Given the description of an element on the screen output the (x, y) to click on. 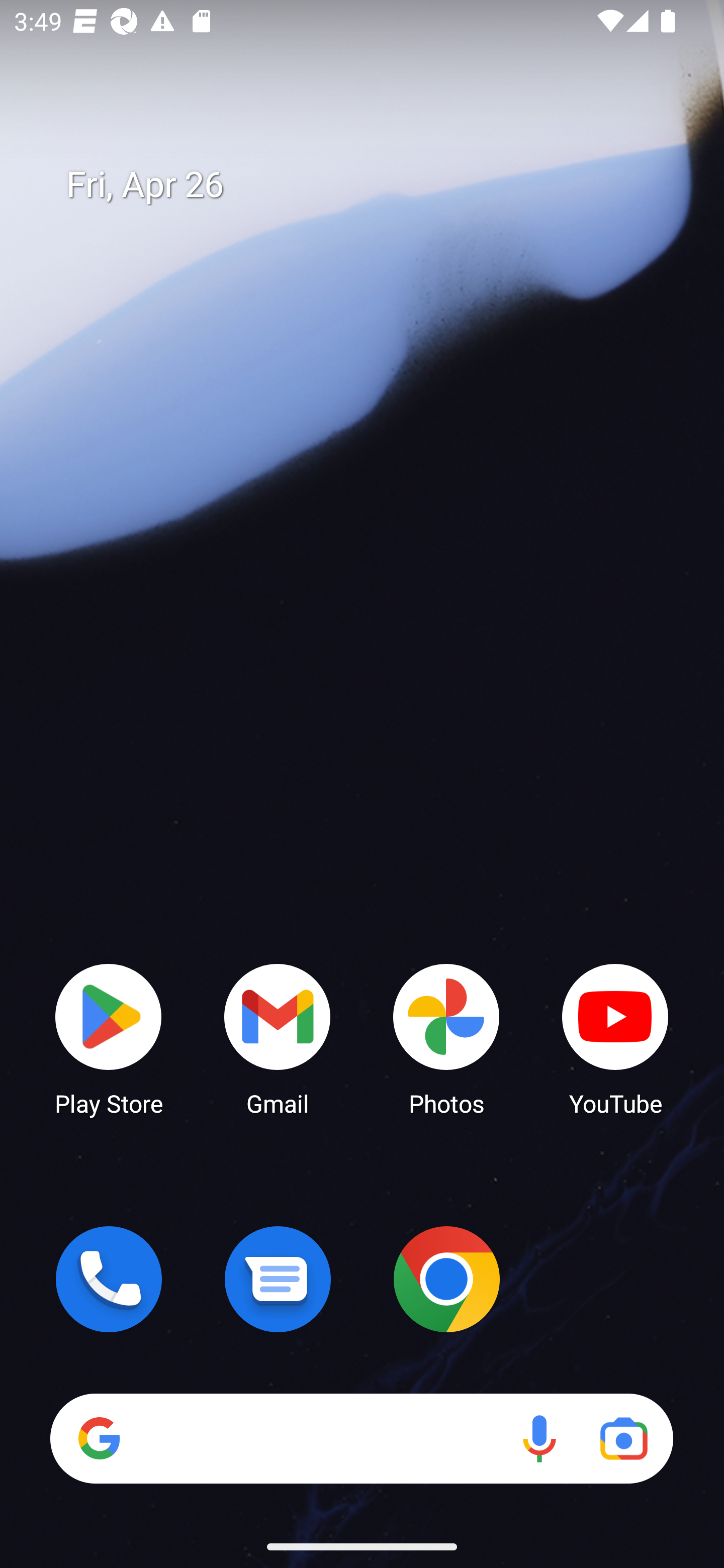
Fri, Apr 26 (375, 184)
Play Store (108, 1038)
Gmail (277, 1038)
Photos (445, 1038)
YouTube (615, 1038)
Phone (108, 1279)
Messages (277, 1279)
Chrome (446, 1279)
Search Voice search Google Lens (361, 1438)
Voice search (539, 1438)
Google Lens (623, 1438)
